Given the description of an element on the screen output the (x, y) to click on. 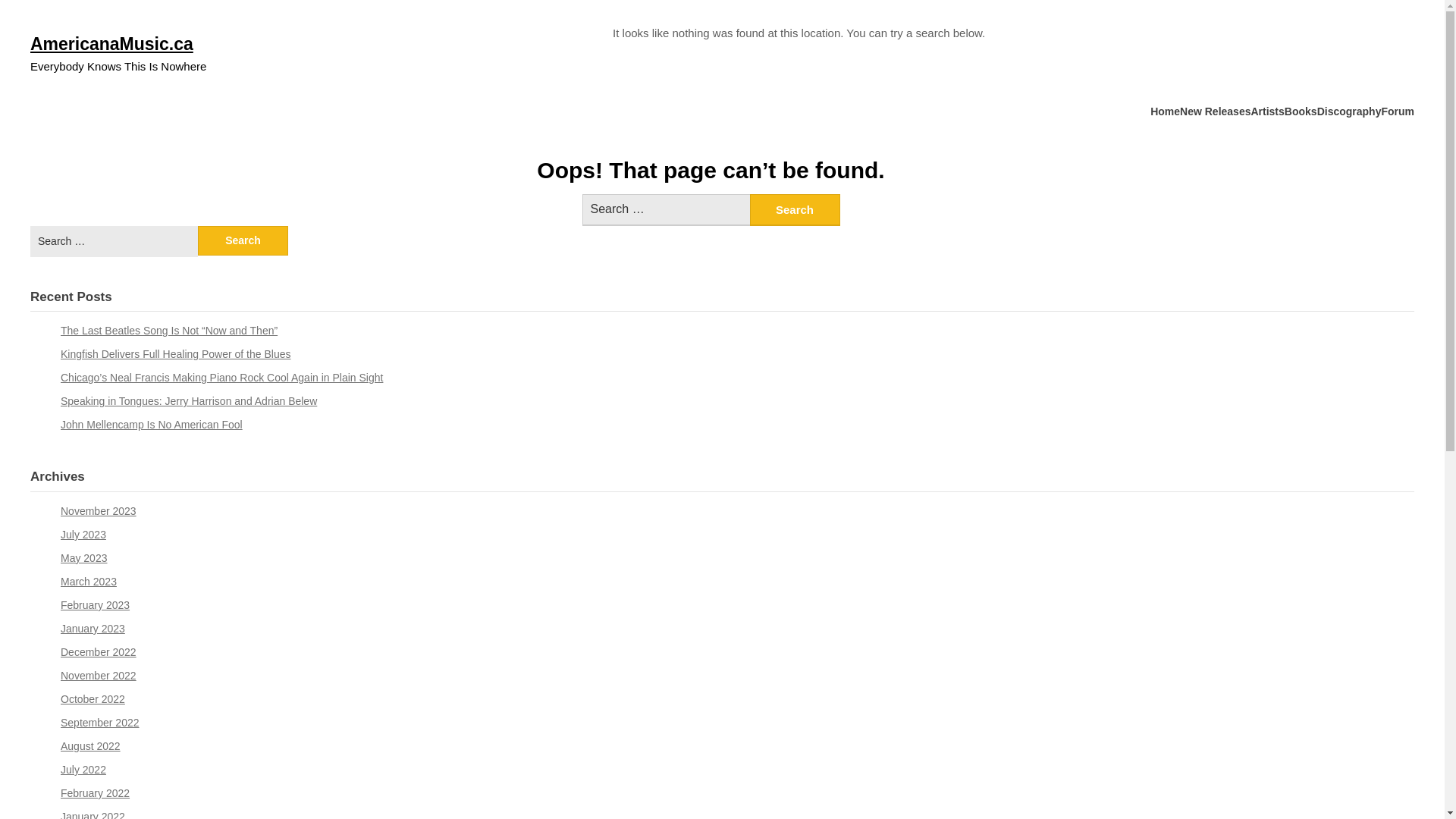
February 2022 Element type: text (94, 793)
March 2023 Element type: text (88, 581)
October 2022 Element type: text (92, 699)
May 2023 Element type: text (83, 558)
Search Element type: text (794, 209)
Search Element type: text (242, 240)
Books Element type: text (1300, 111)
February 2023 Element type: text (94, 605)
Kingfish Delivers Full Healing Power of the Blues Element type: text (175, 354)
November 2023 Element type: text (98, 511)
Speaking in Tongues: Jerry Harrison and Adrian Belew Element type: text (188, 401)
New Releases Element type: text (1214, 111)
Artists Element type: text (1266, 111)
Discography Element type: text (1349, 111)
Forum Element type: text (1397, 111)
July 2022 Element type: text (83, 769)
January 2023 Element type: text (92, 628)
December 2022 Element type: text (98, 652)
September 2022 Element type: text (99, 722)
July 2023 Element type: text (83, 534)
AmericanaMusic.ca Element type: text (111, 43)
November 2022 Element type: text (98, 675)
August 2022 Element type: text (90, 746)
Home Element type: text (1164, 111)
John Mellencamp Is No American Fool Element type: text (151, 424)
